Given the description of an element on the screen output the (x, y) to click on. 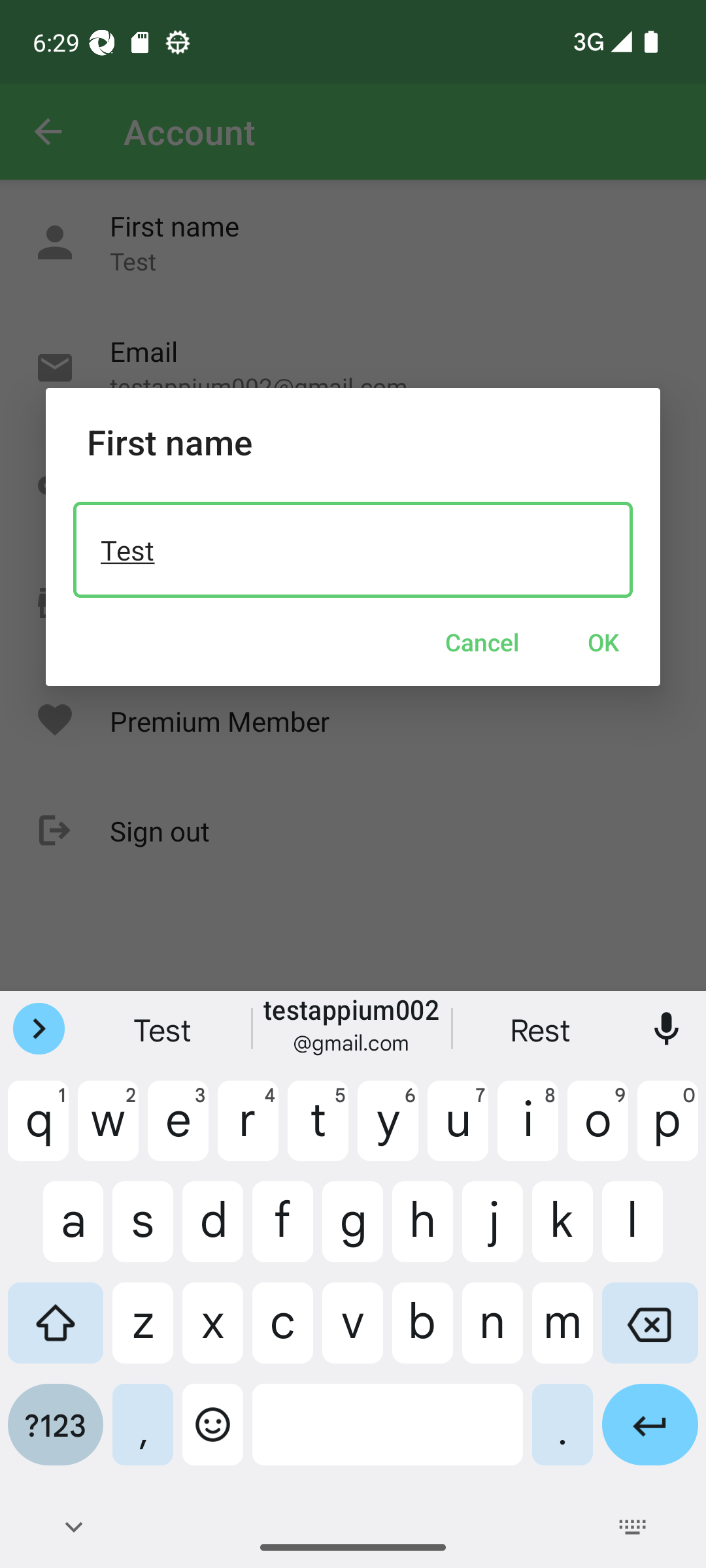
Test (352, 549)
Cancel (481, 641)
OK (603, 641)
